Given the description of an element on the screen output the (x, y) to click on. 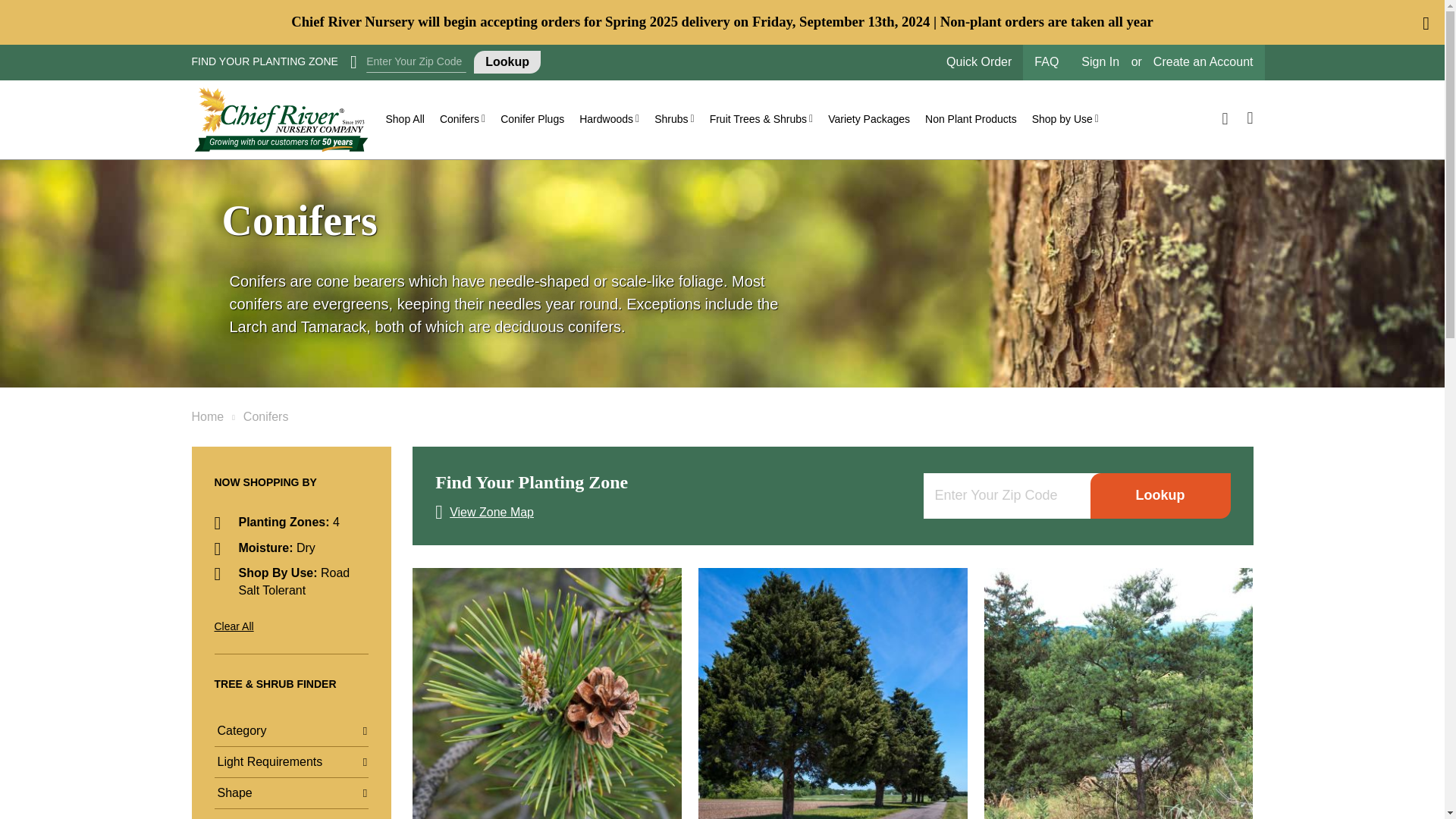
Zip Code (415, 61)
Go to Home Page (207, 417)
Create an Account (1203, 62)
Shop All (403, 119)
Chief River Nursery (279, 119)
FAQ (1045, 62)
Sign In (1100, 62)
Conifer Plugs (532, 119)
Zip Code (1006, 495)
Quick Order (978, 62)
